Given the description of an element on the screen output the (x, y) to click on. 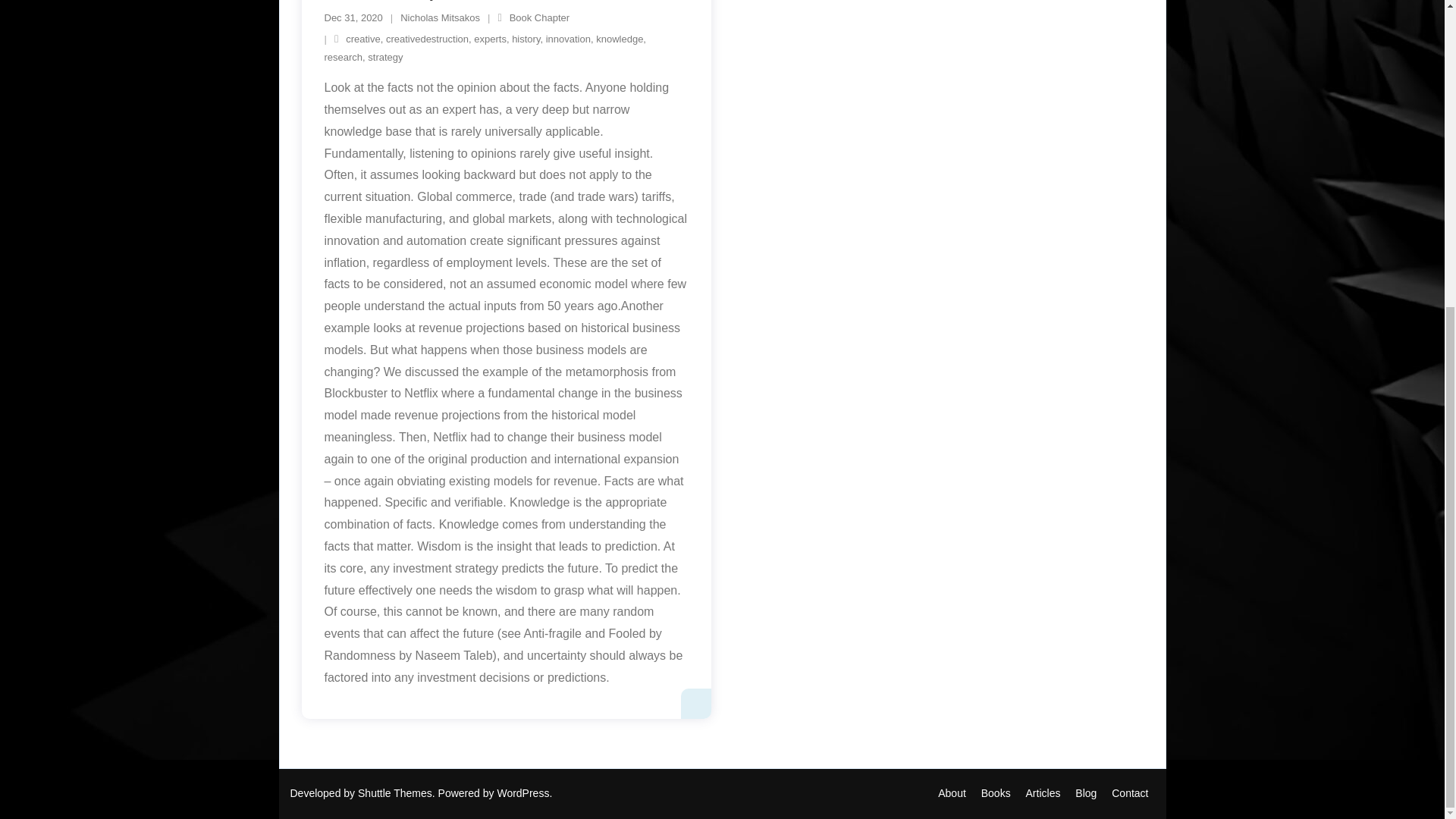
experts (490, 39)
creativedestruction (426, 39)
creative (363, 39)
Nicholas Mitsakos (440, 17)
Beware of Experts (353, 17)
Shuttle Themes (395, 793)
Book Chapter (539, 17)
View all posts by Nicholas Mitsakos (440, 17)
Nicholas Mitsakos (951, 793)
innovation (568, 39)
